Given the description of an element on the screen output the (x, y) to click on. 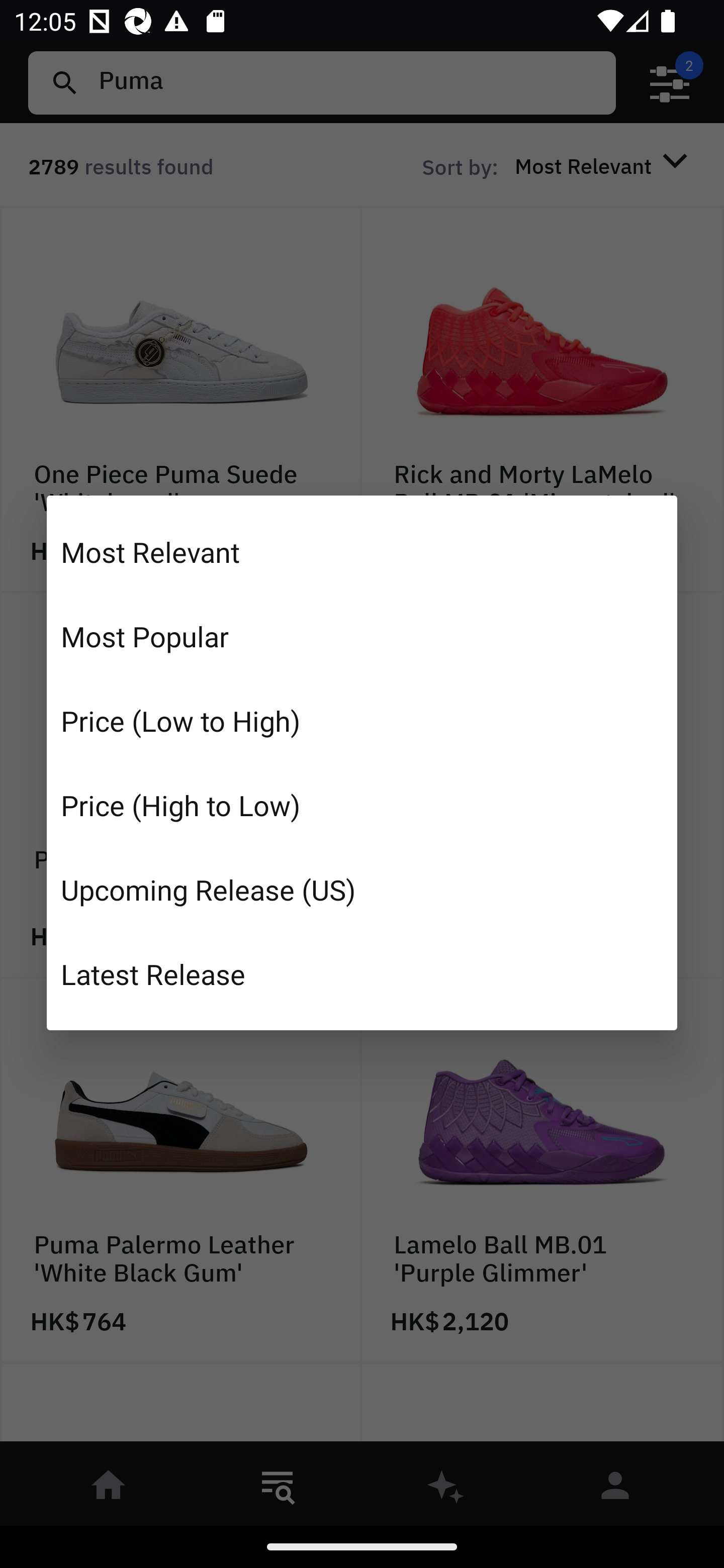
Most Relevant (361, 551)
Most Popular (361, 636)
Price (Low to High) (361, 720)
Price (High to Low) (361, 804)
Upcoming Release (US) (361, 888)
Latest Release (361, 973)
